Given the description of an element on the screen output the (x, y) to click on. 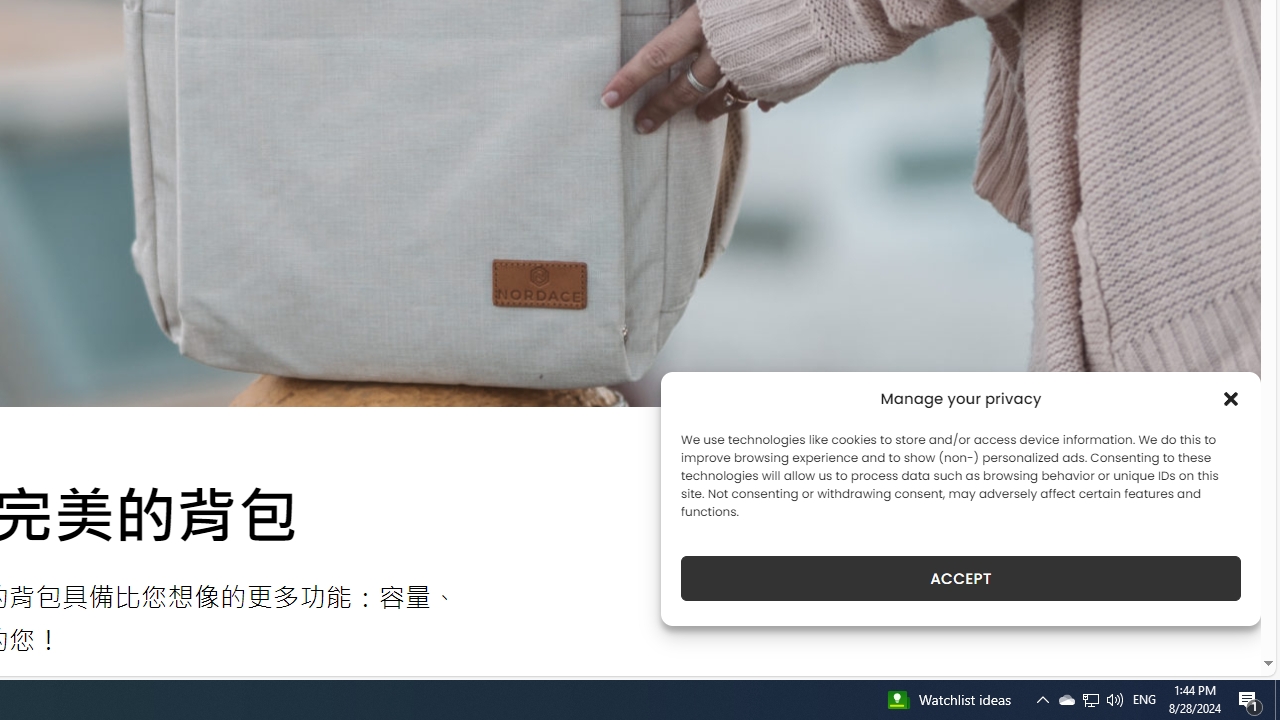
Class: cmplz-close (1231, 398)
ACCEPT (960, 578)
